Given the description of an element on the screen output the (x, y) to click on. 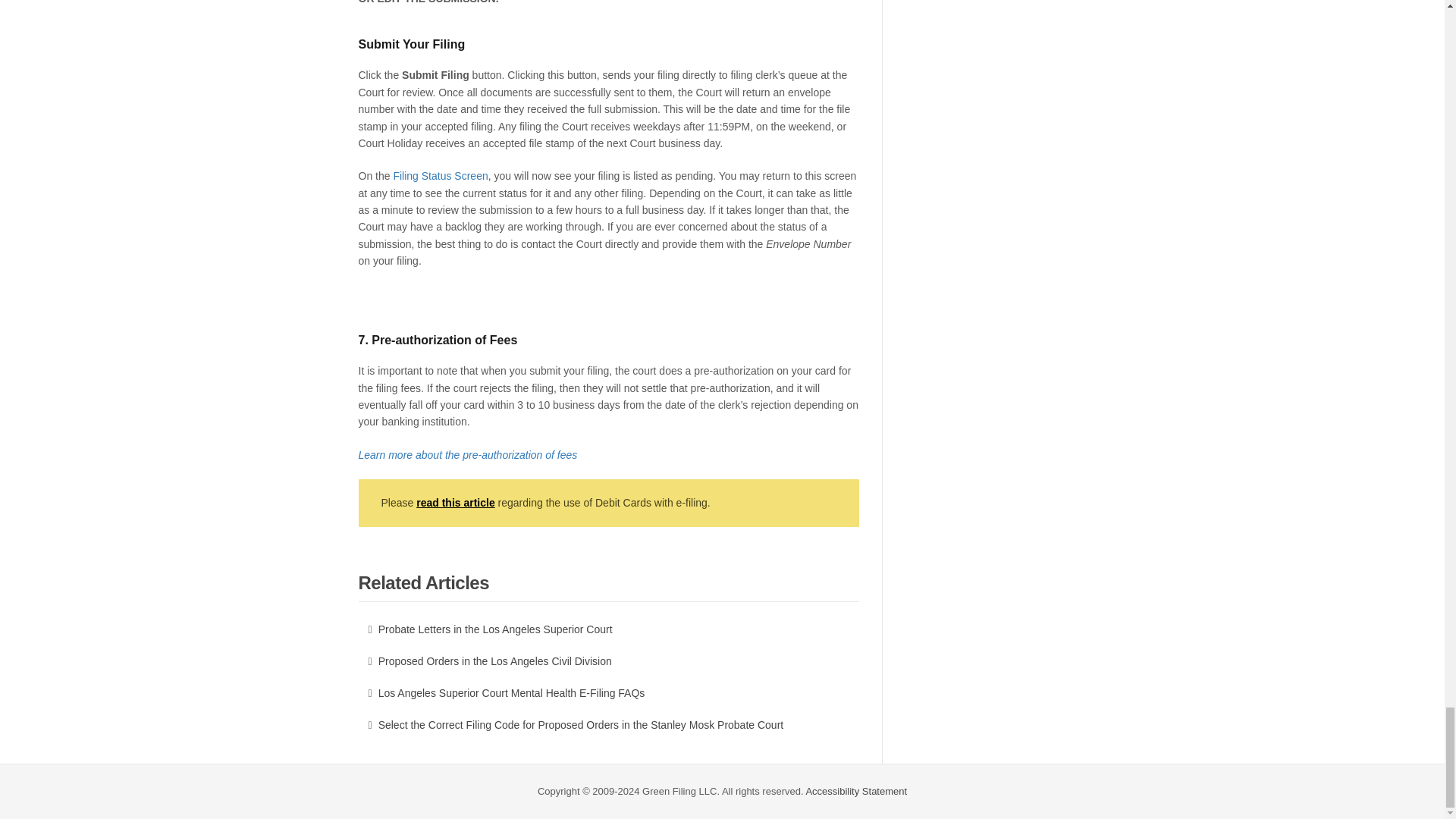
Probate Letters in the Los Angeles Superior Court (608, 629)
Proposed Orders in the Los Angeles Civil Division (608, 661)
Probate Letters in the Los Angeles Superior Court (608, 629)
Learn more about the pre-authorization of fees (467, 454)
Proposed Orders in the Los Angeles Civil Division (608, 661)
read this article (455, 502)
Los Angeles Superior Court Mental Health E-Filing FAQs (608, 693)
Los Angeles Superior Court Mental Health E-Filing FAQs (608, 693)
Filing Status Screen (440, 175)
